Given the description of an element on the screen output the (x, y) to click on. 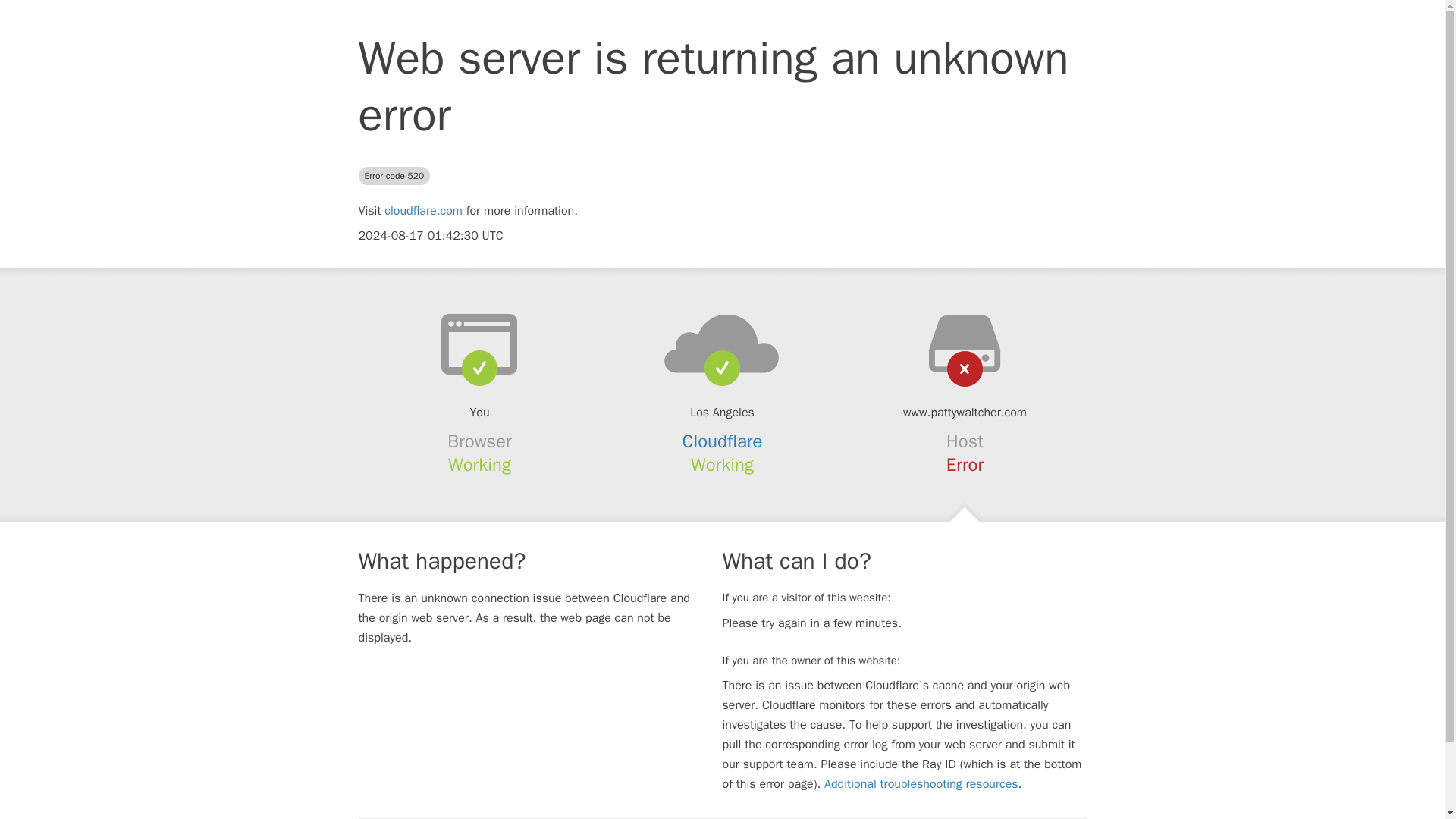
Additional troubleshooting resources (920, 783)
cloudflare.com (423, 210)
Cloudflare (722, 440)
